Given the description of an element on the screen output the (x, y) to click on. 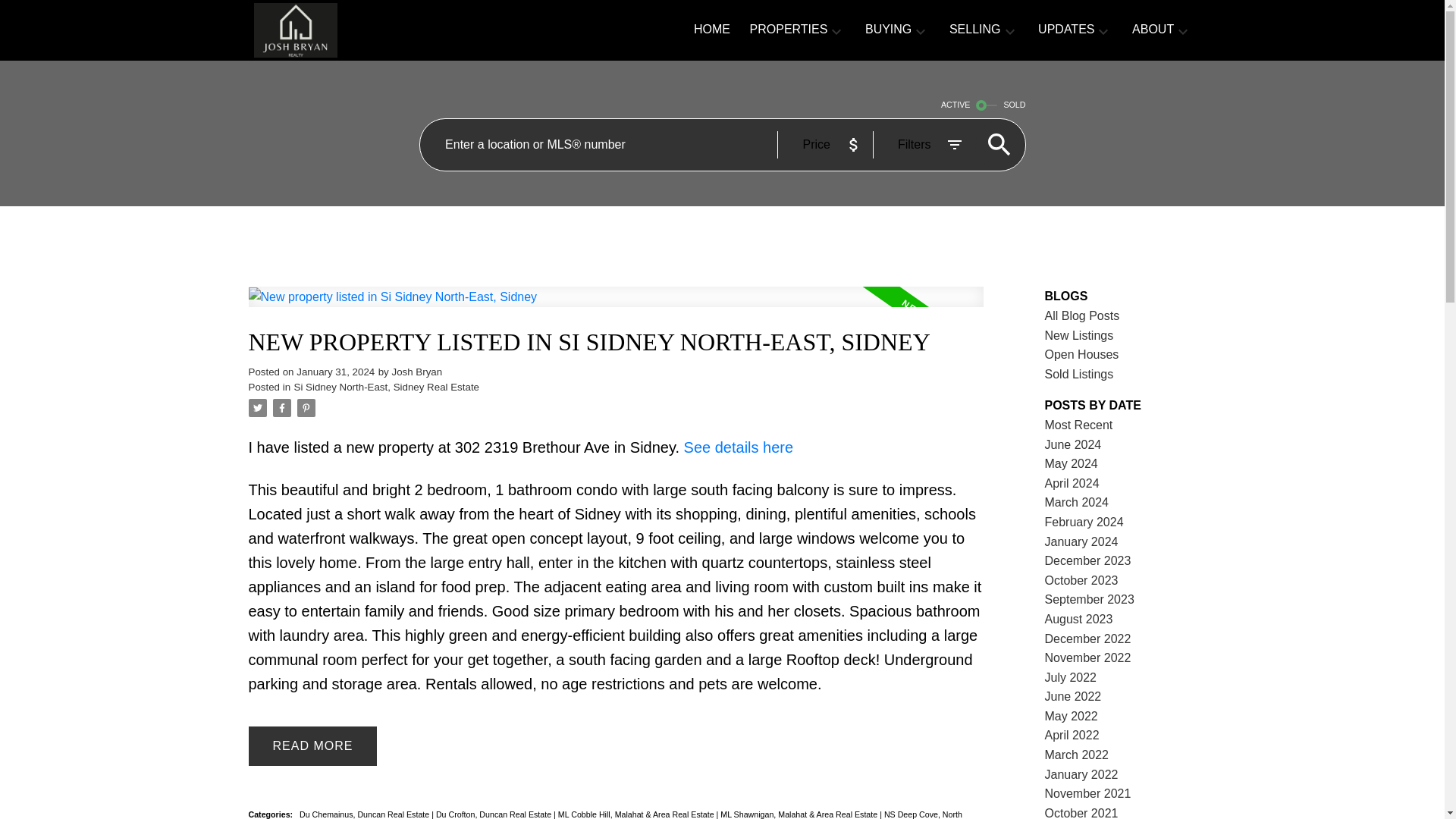
Du Chemainus, Duncan Real Estate (364, 814)
READ (312, 745)
NS Deep Cove, North Saanich Real Estate (605, 814)
Du Crofton, Duncan Real Estate (494, 814)
See details here (738, 446)
Si Sidney North-East, Sidney Real Estate (386, 387)
Read full post (616, 305)
NEW PROPERTY LISTED IN SI SIDNEY NORTH-EAST, SIDNEY (616, 342)
HOME (712, 30)
